Given the description of an element on the screen output the (x, y) to click on. 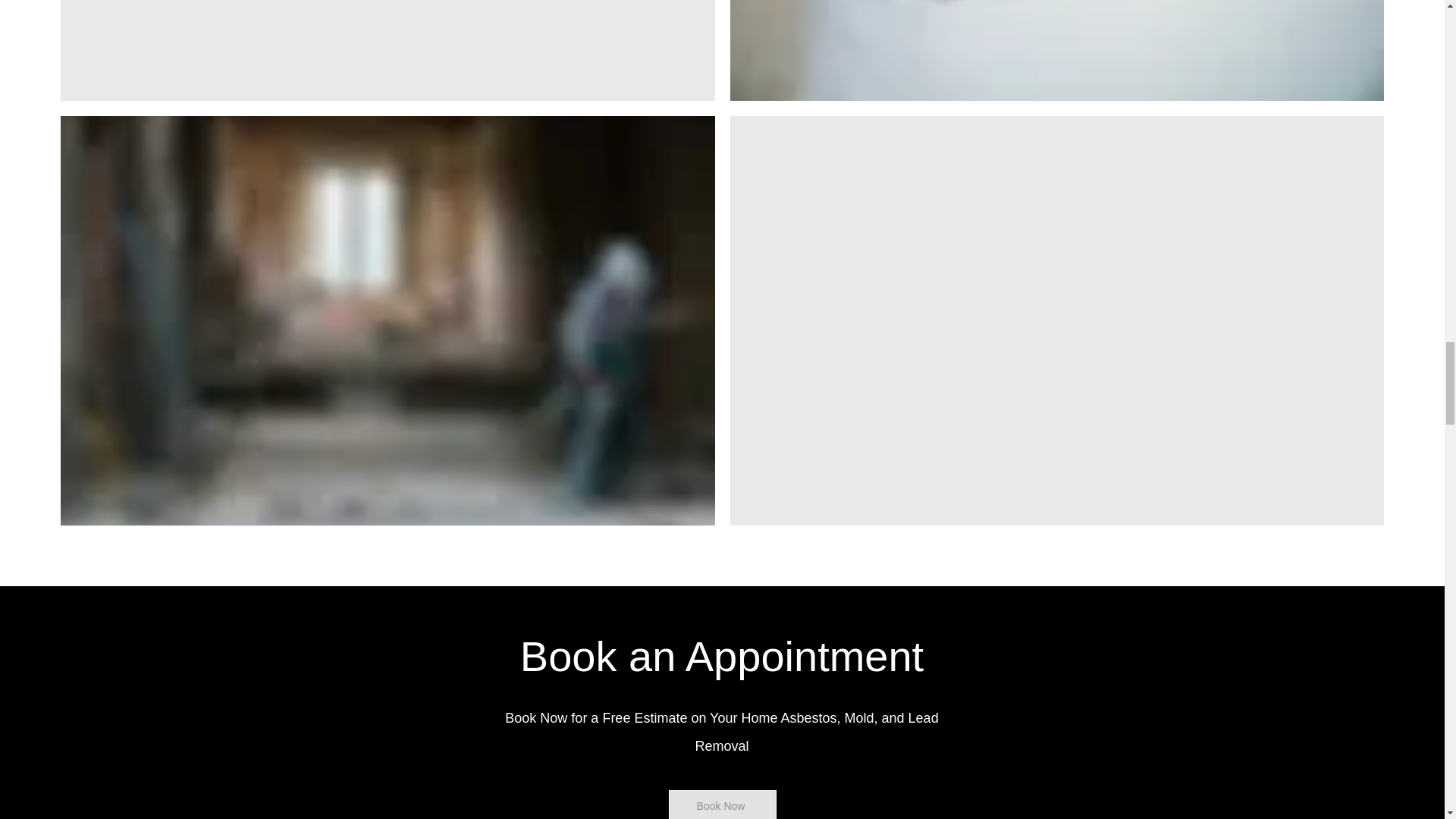
Book Now (722, 804)
